Given the description of an element on the screen output the (x, y) to click on. 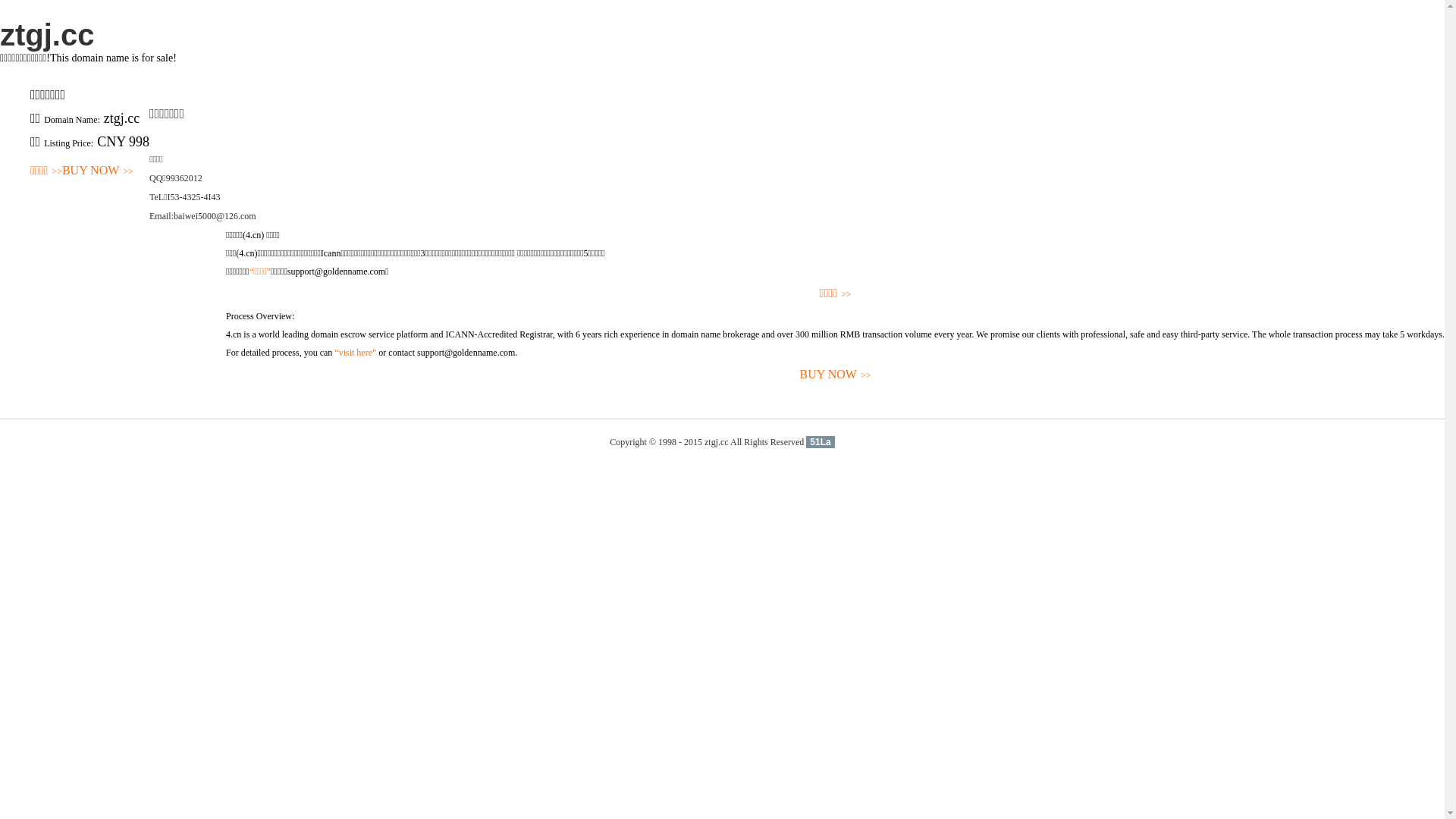
BUY NOW>> Element type: text (834, 374)
51La Element type: text (820, 441)
BUY NOW>> Element type: text (97, 170)
